Given the description of an element on the screen output the (x, y) to click on. 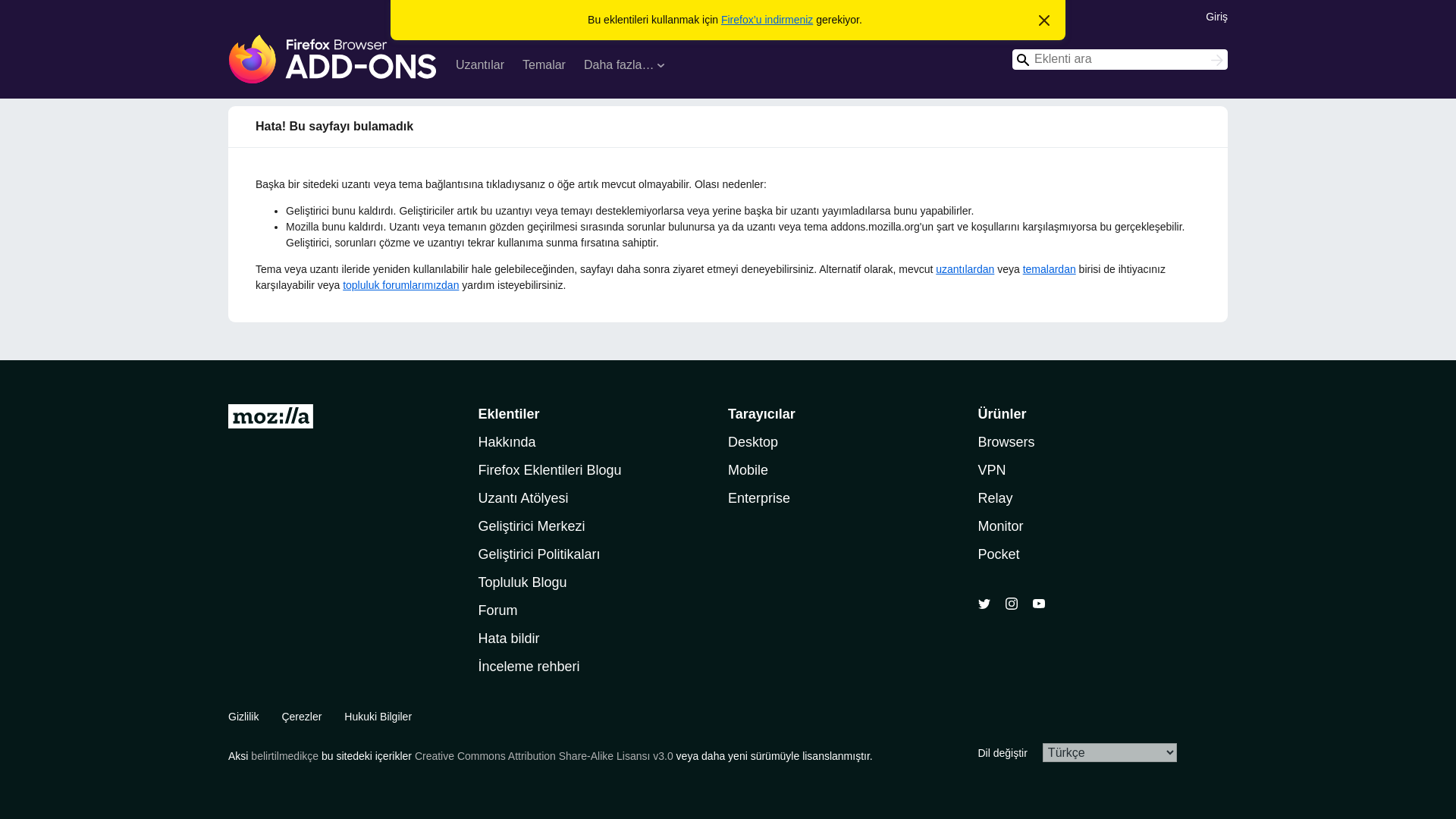
Hata bildir (507, 638)
Pocket (999, 554)
Mobile (748, 469)
Hukuki Bilgiler (377, 716)
temalardan (1049, 268)
Topluluk Blogu (521, 581)
Firefox Eklentileri Blogu (549, 469)
Gizlilik (243, 716)
Relay (995, 498)
Temalar (544, 66)
Browsers (1006, 441)
Enterprise (759, 498)
Monitor (1000, 525)
VPN (992, 469)
Desktop (752, 441)
